Given the description of an element on the screen output the (x, y) to click on. 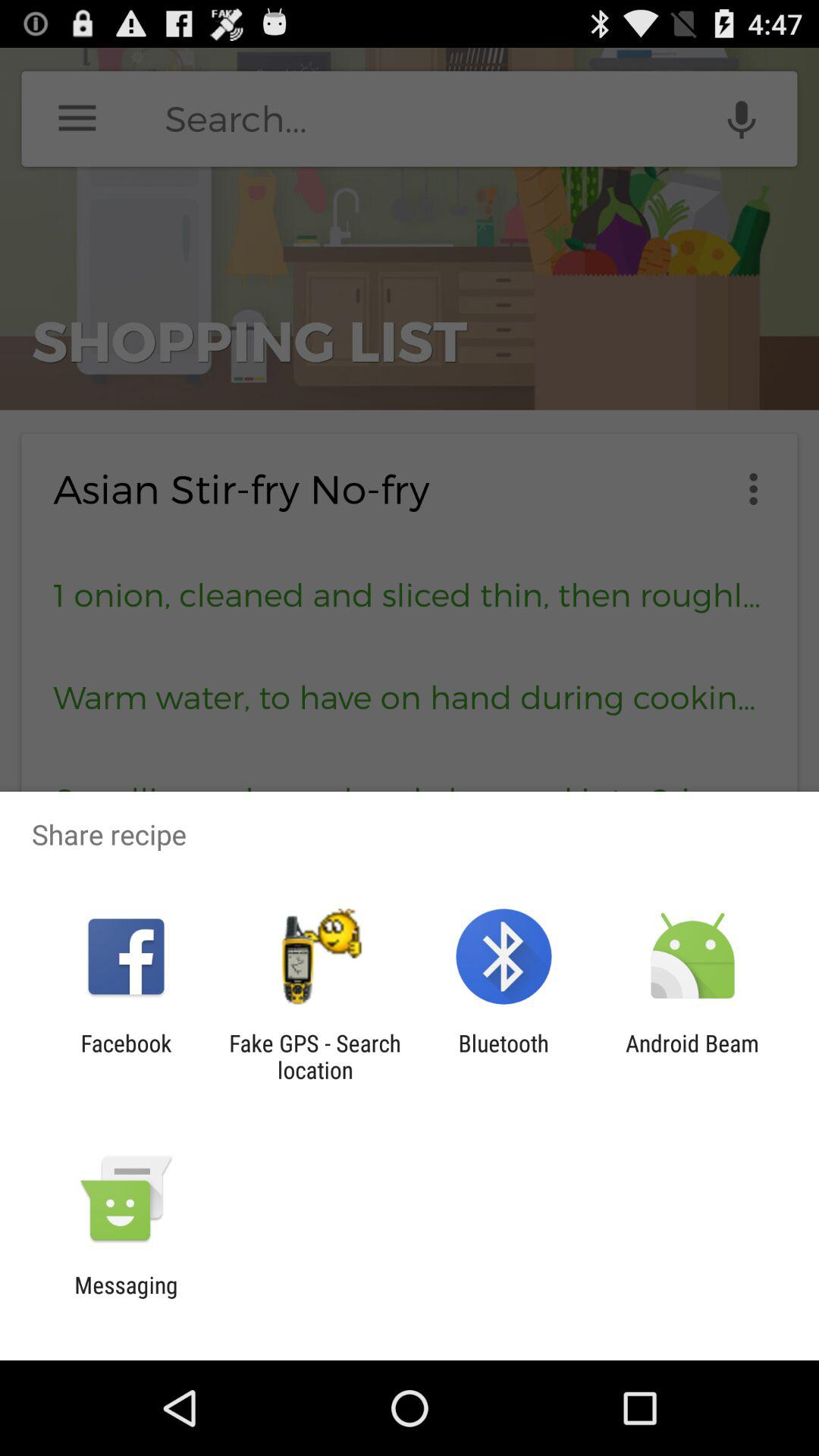
jump until the messaging app (126, 1298)
